Given the description of an element on the screen output the (x, y) to click on. 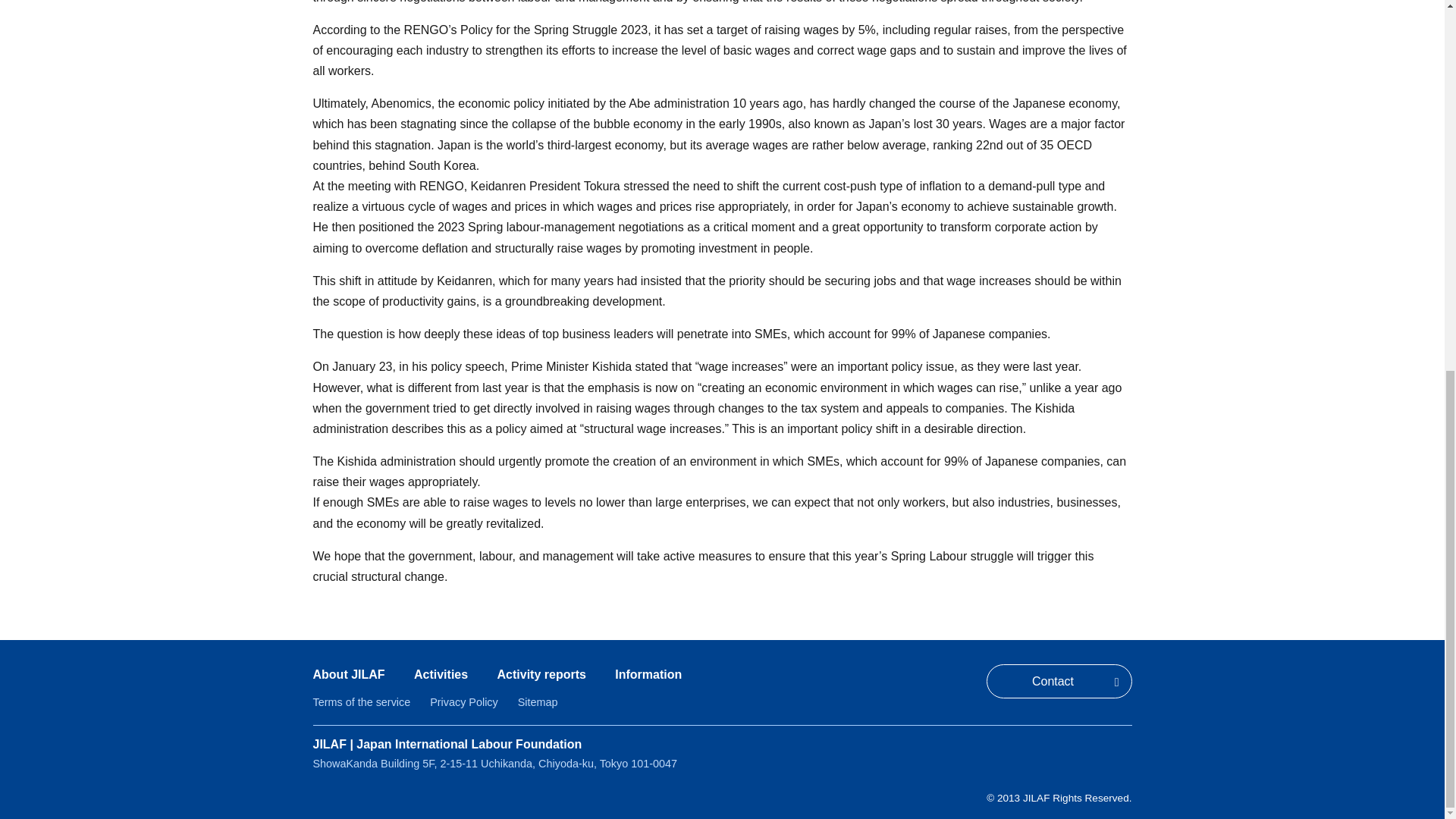
Activity reports (541, 674)
Sitemap (537, 702)
Privacy Policy (463, 702)
Information (647, 674)
Terms of the service (361, 702)
Contact (1058, 681)
Activities (440, 674)
About JILAF (348, 674)
